Given the description of an element on the screen output the (x, y) to click on. 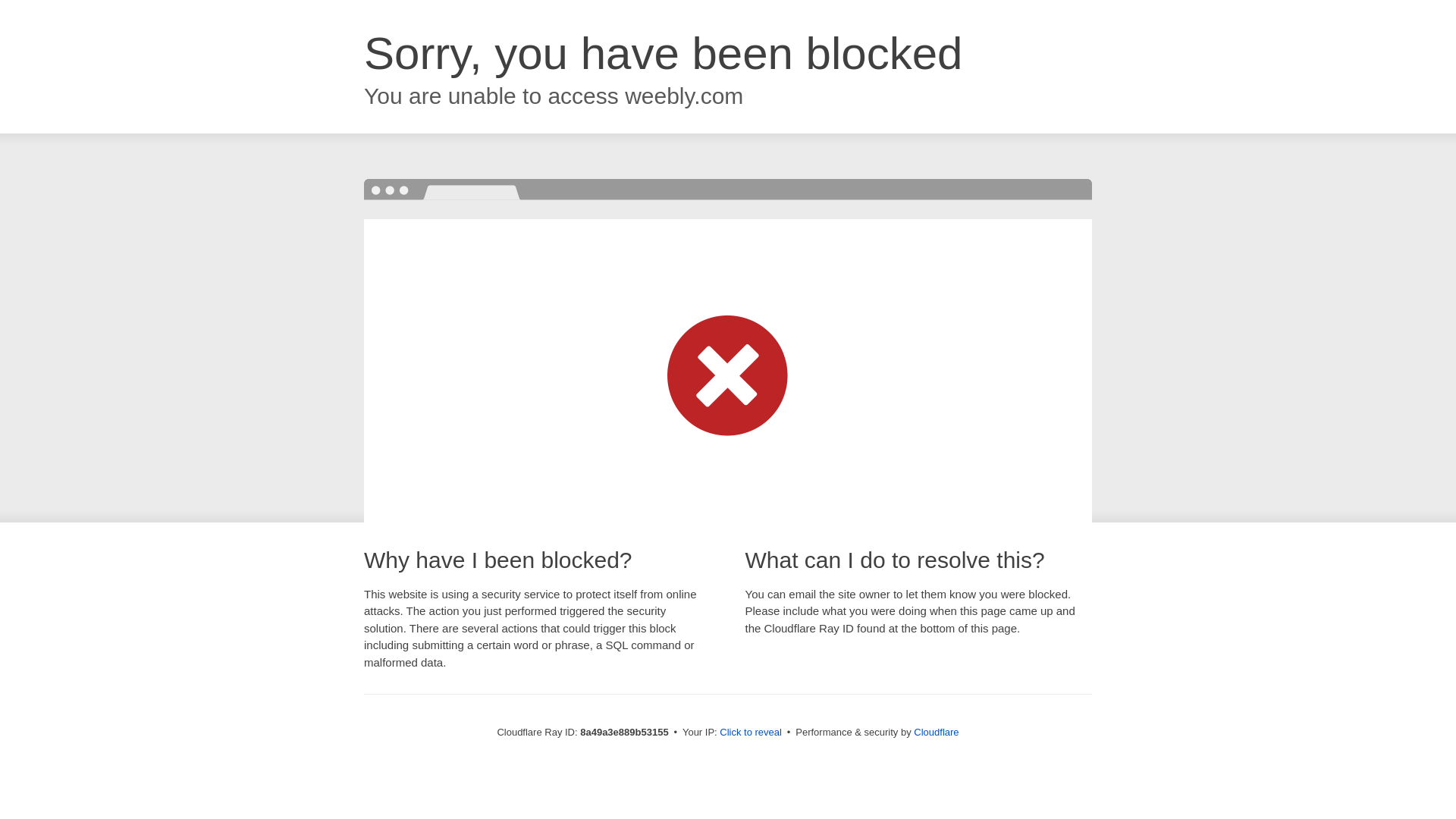
Cloudflare (936, 731)
Click to reveal (750, 732)
